Given the description of an element on the screen output the (x, y) to click on. 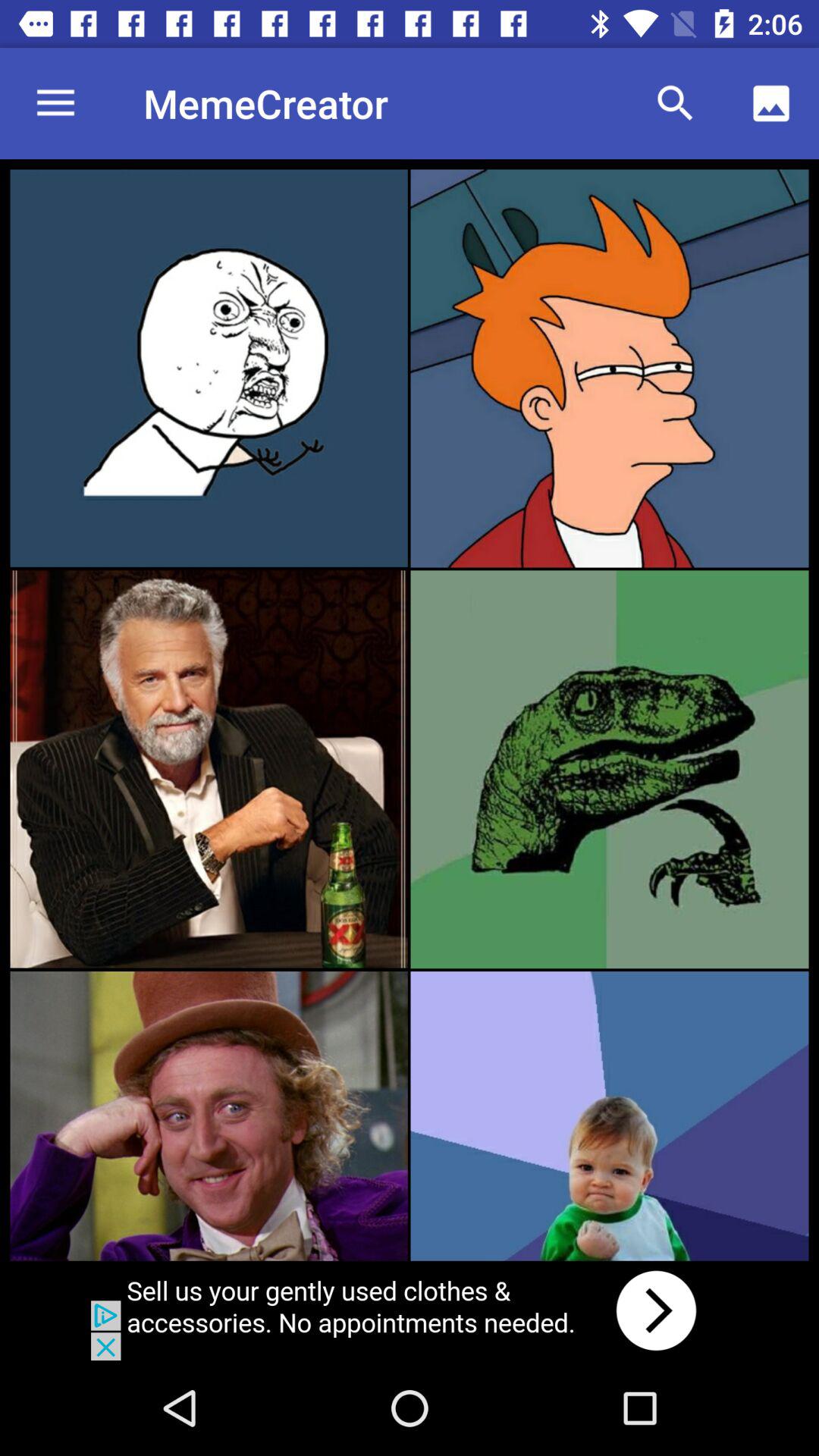
select advertisement (409, 1310)
